Given the description of an element on the screen output the (x, y) to click on. 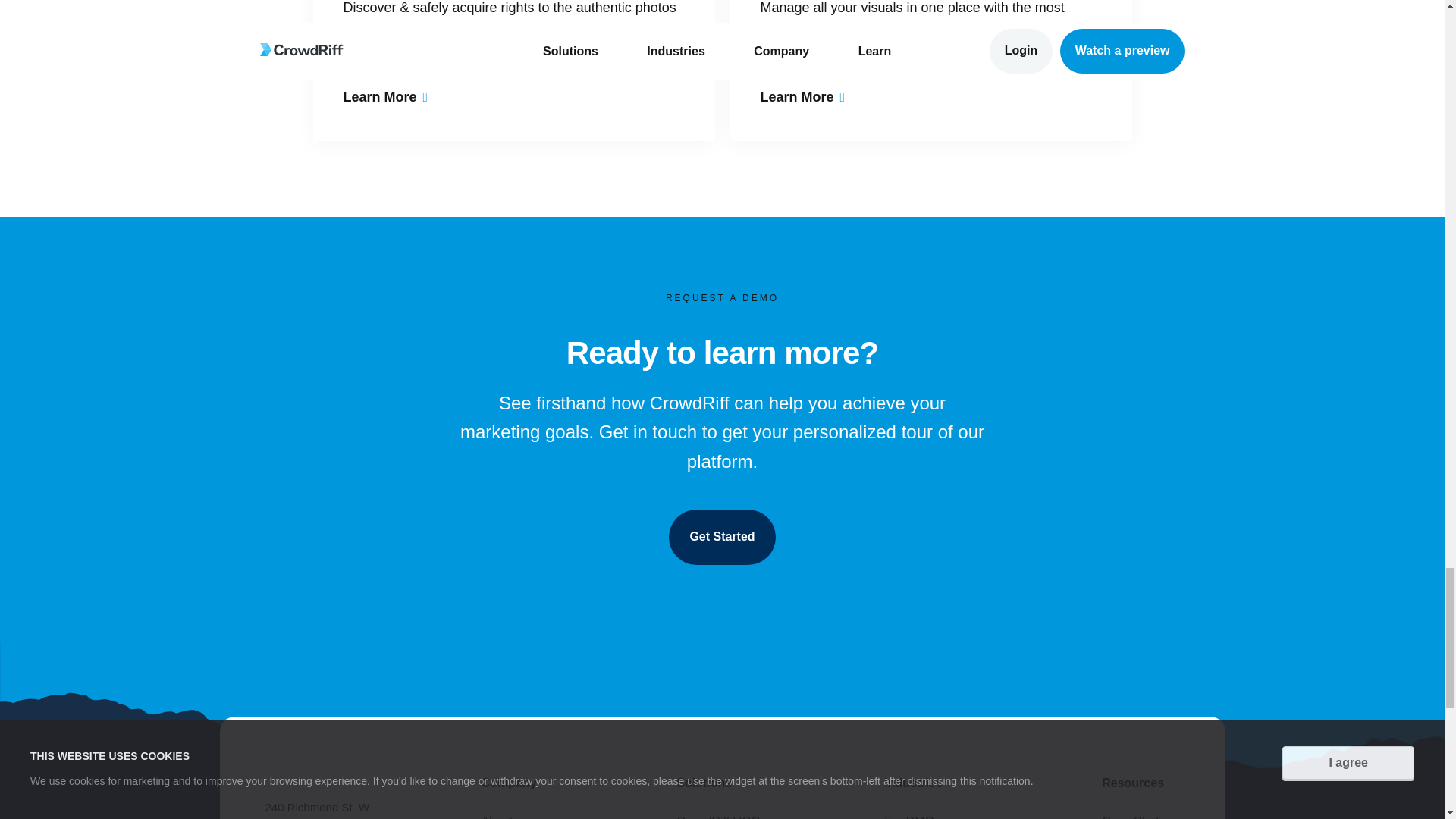
About (526, 816)
Get Started (721, 537)
